Given the description of an element on the screen output the (x, y) to click on. 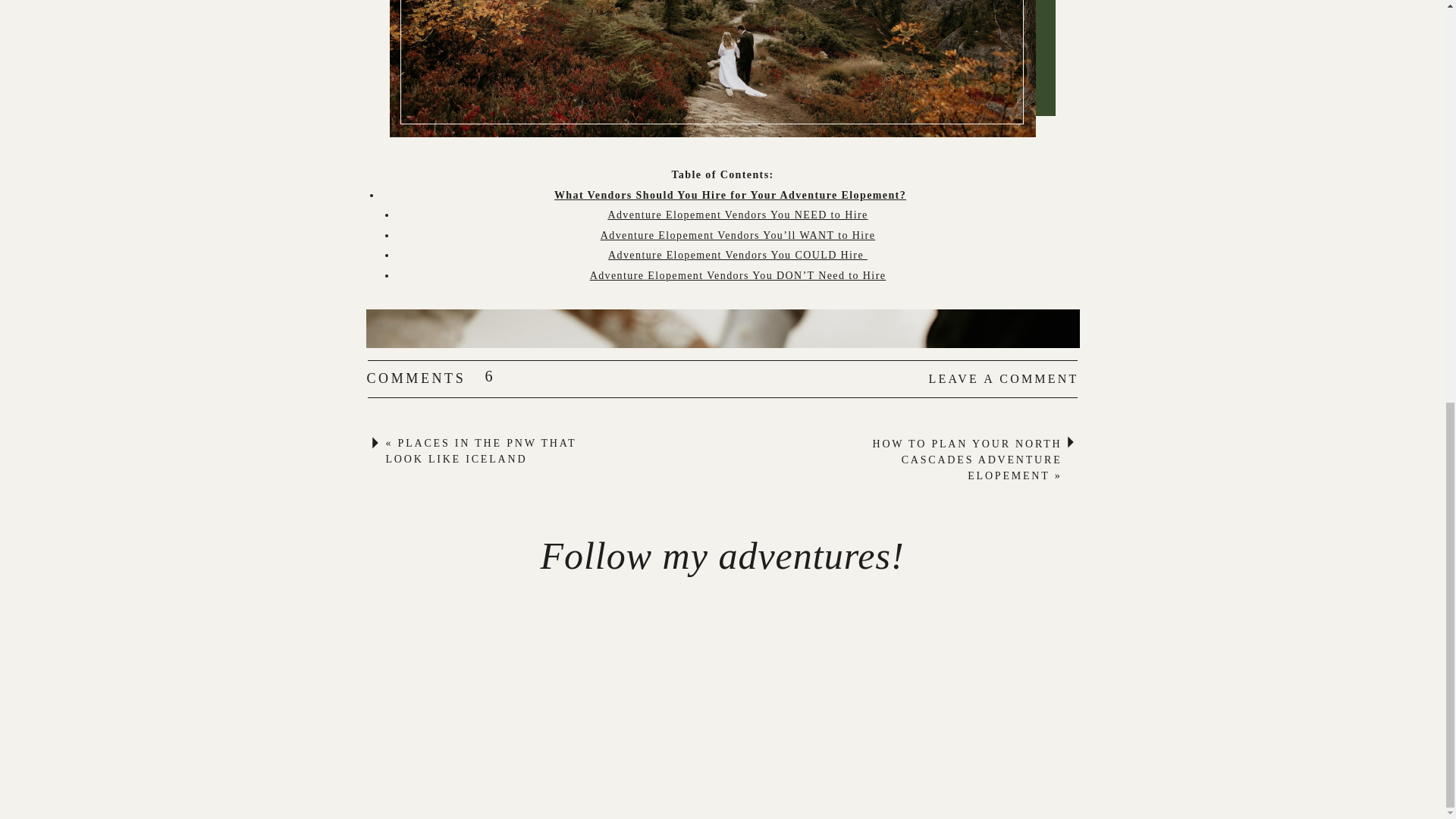
Adventure Elopement Vendors You NEED to Hire (737, 214)
COMMENTS (439, 379)
LEAVE A COMMENT (994, 378)
What Vendors Should You Hire for Your Adventure Elopement? (729, 194)
Adventure Elopement Vendors You COULD Hire  (737, 255)
